Given the description of an element on the screen output the (x, y) to click on. 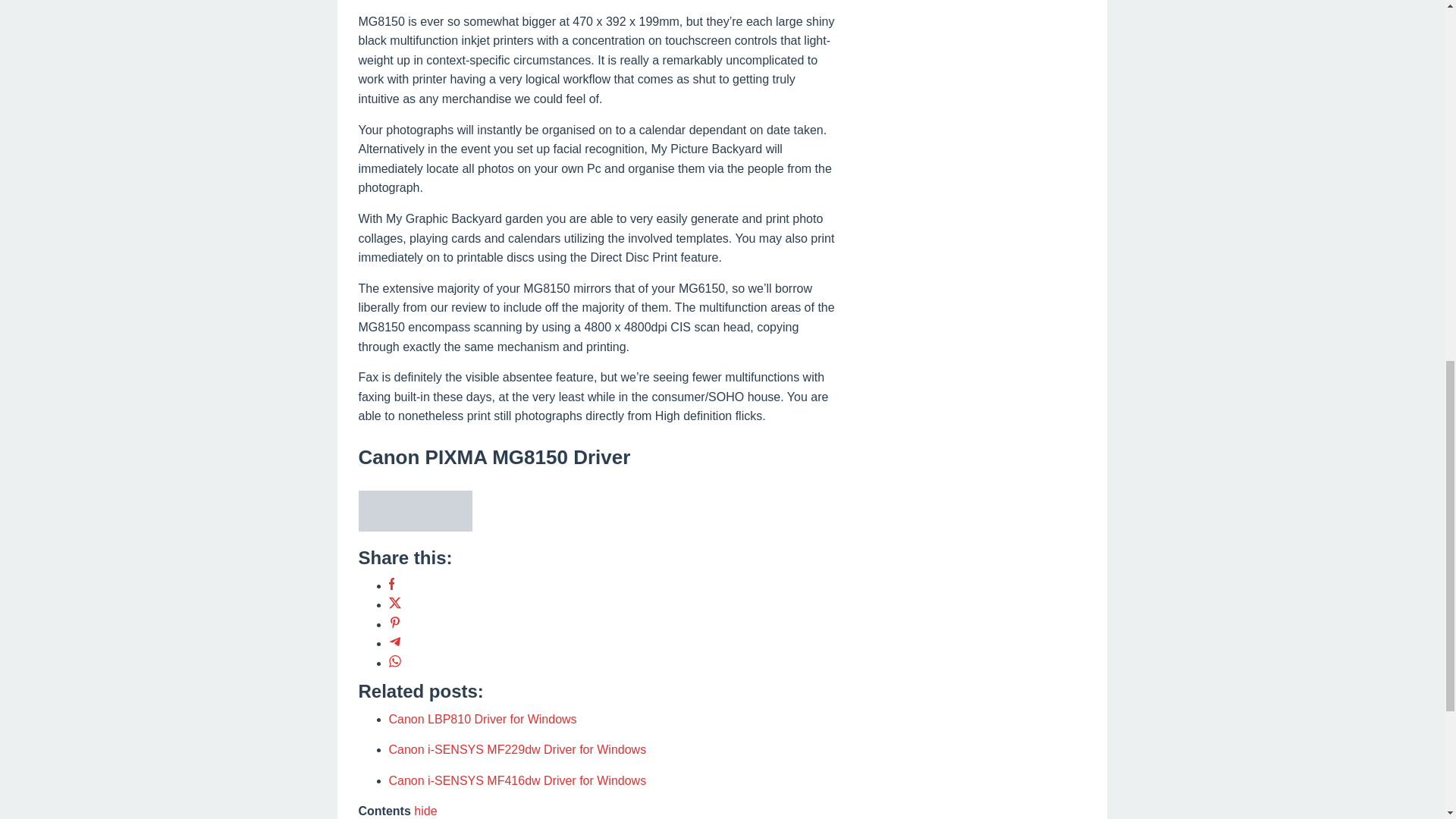
hide (424, 810)
Canon LBP810 Driver for Windows (482, 718)
Pin this (394, 624)
Canon i-SENSYS MF229dw Driver for Windows (517, 748)
Tweet this (394, 604)
Permalink to: Canon i-SENSYS MF229dw Driver for Windows (517, 748)
Permalink to: Canon i-SENSYS MF416dw Driver for Windows (517, 780)
Permalink to: Canon LBP810 Driver for Windows (482, 718)
Telegram Share (394, 643)
Canon i-SENSYS MF416dw Driver for Windows (517, 780)
